Given the description of an element on the screen output the (x, y) to click on. 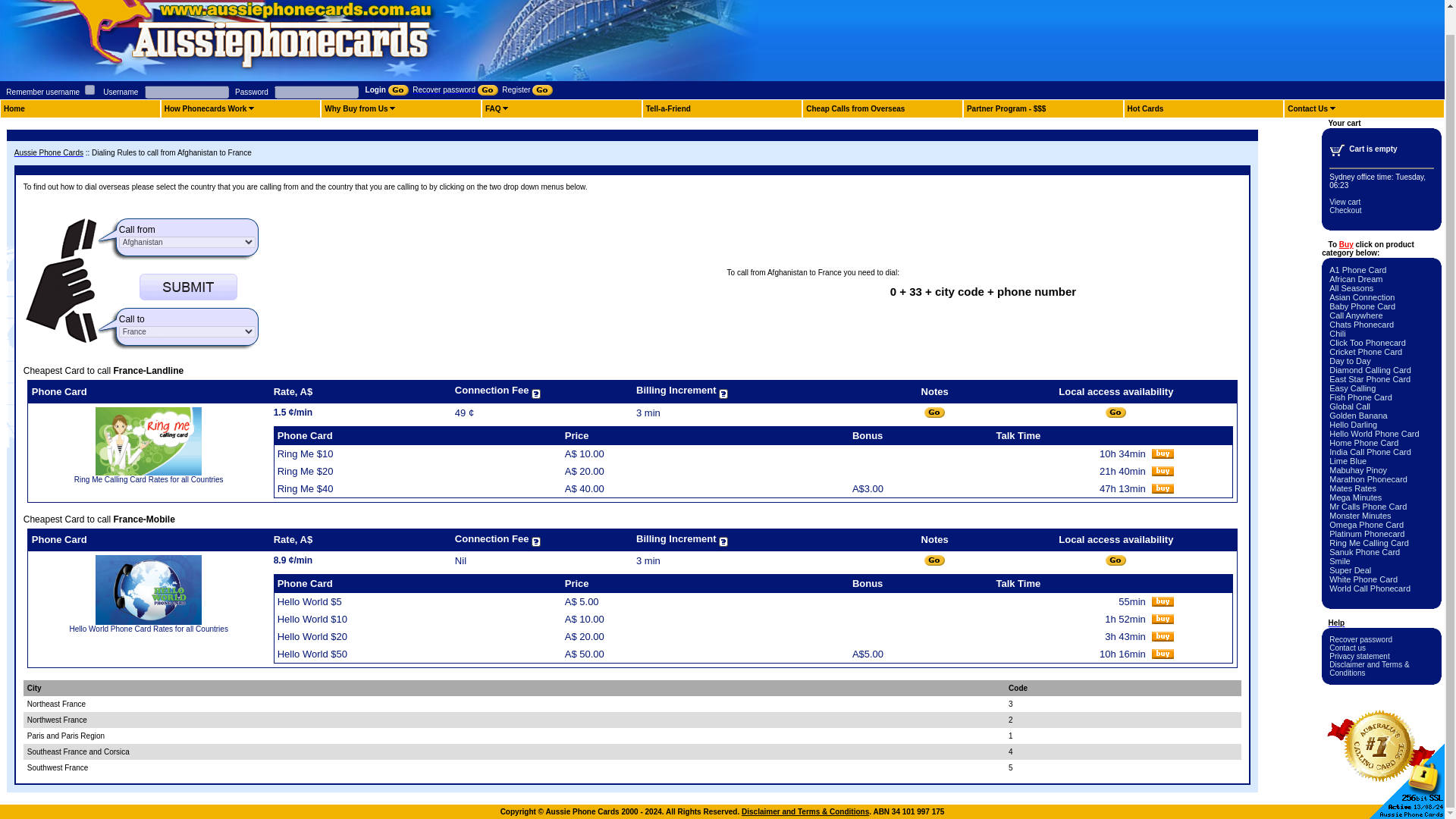
Tell-a-Friend (668, 108)
Ring Me Calling Card Rates for all Countries (149, 479)
Local access availability (1115, 412)
Home (14, 108)
Why Buy from Us (355, 108)
Login (387, 89)
Home (14, 108)
Ring Me Calling Card (149, 472)
Cheap Calls from Overseas (855, 108)
How Phonecards Work (205, 108)
